Given the description of an element on the screen output the (x, y) to click on. 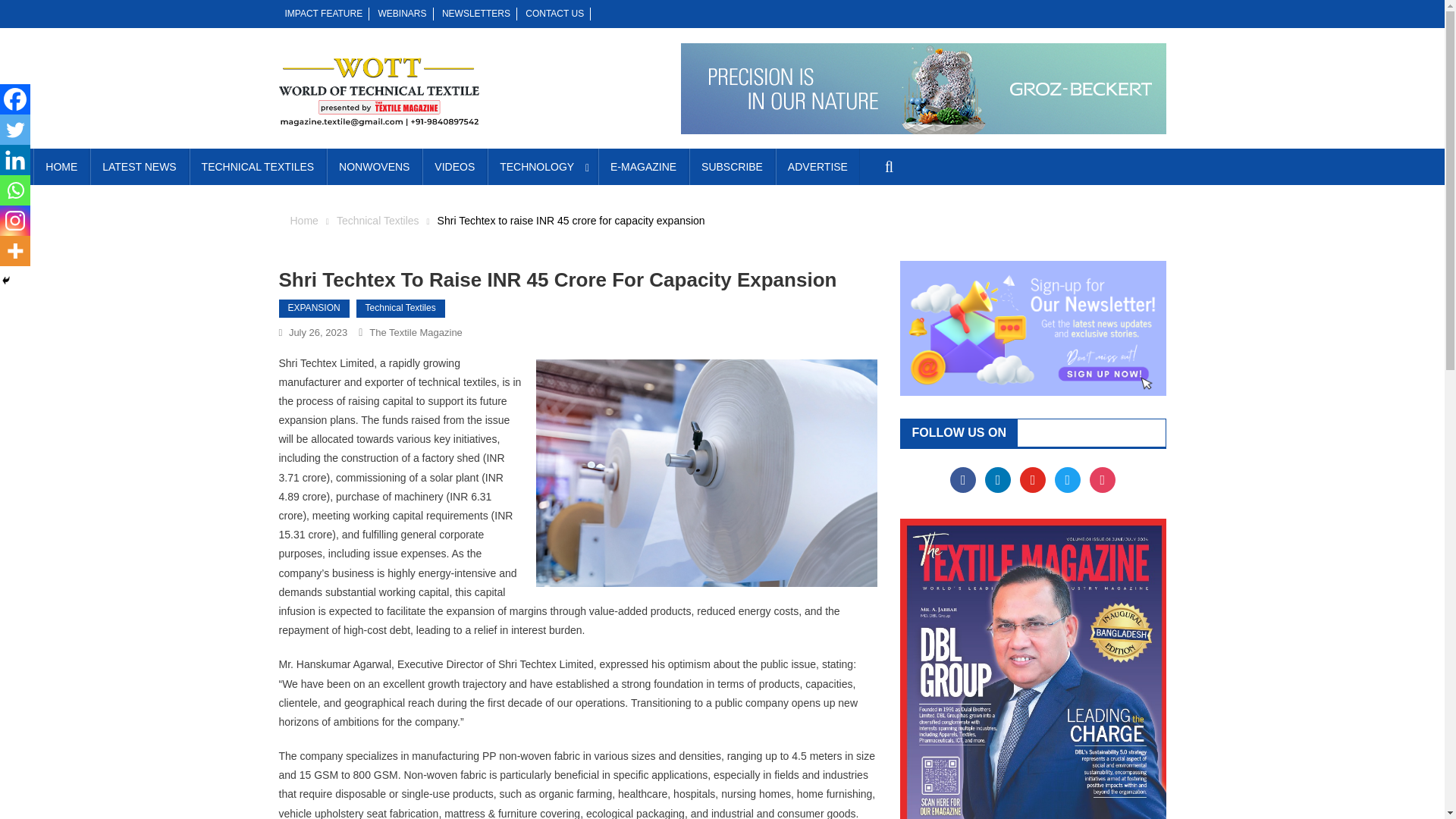
CONTACT US (554, 13)
NEWSLETTERS (476, 13)
Instagram (1102, 479)
LATEST NEWS (139, 166)
TECHNICAL TEXTILES (257, 166)
WEBINARS (402, 13)
TECHNOLOGY (541, 166)
More (15, 250)
Default Label (1032, 479)
EXPANSION (314, 308)
The Textile Magazine (416, 332)
VIDEOS (454, 166)
Whatsapp (15, 190)
July 26, 2023 (317, 332)
Linkedin (15, 159)
